Given the description of an element on the screen output the (x, y) to click on. 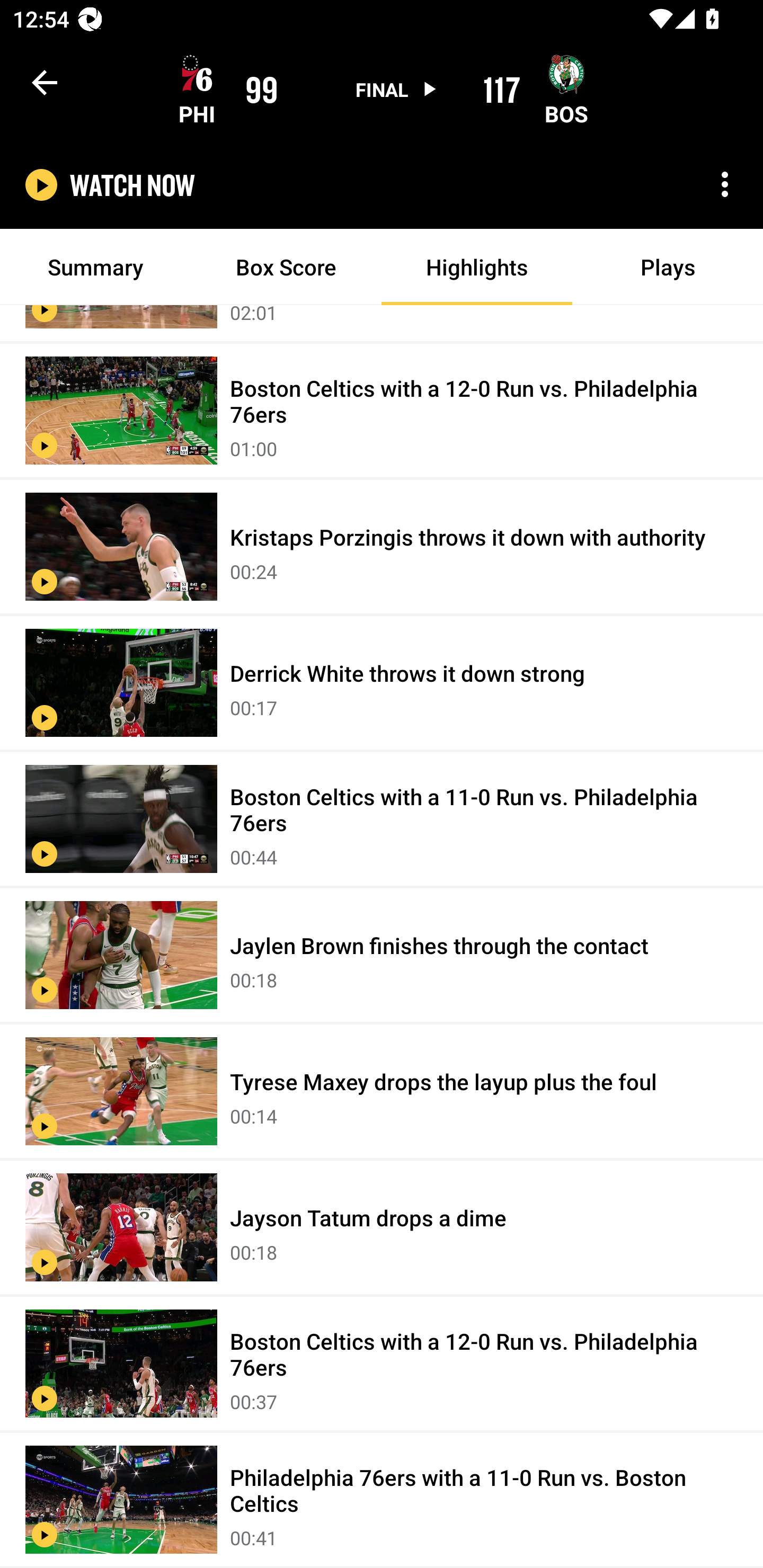
Navigate up (44, 82)
More options (724, 183)
WATCH NOW (132, 184)
Summary (95, 266)
Box Score (285, 266)
Plays (667, 266)
Derrick White throws it down strong 00:17 (381, 683)
Jaylen Brown finishes through the contact 00:18 (381, 956)
Tyrese Maxey drops the layup plus the foul 00:14 (381, 1091)
Jayson Tatum drops a dime 00:18 (381, 1227)
